Given the description of an element on the screen output the (x, y) to click on. 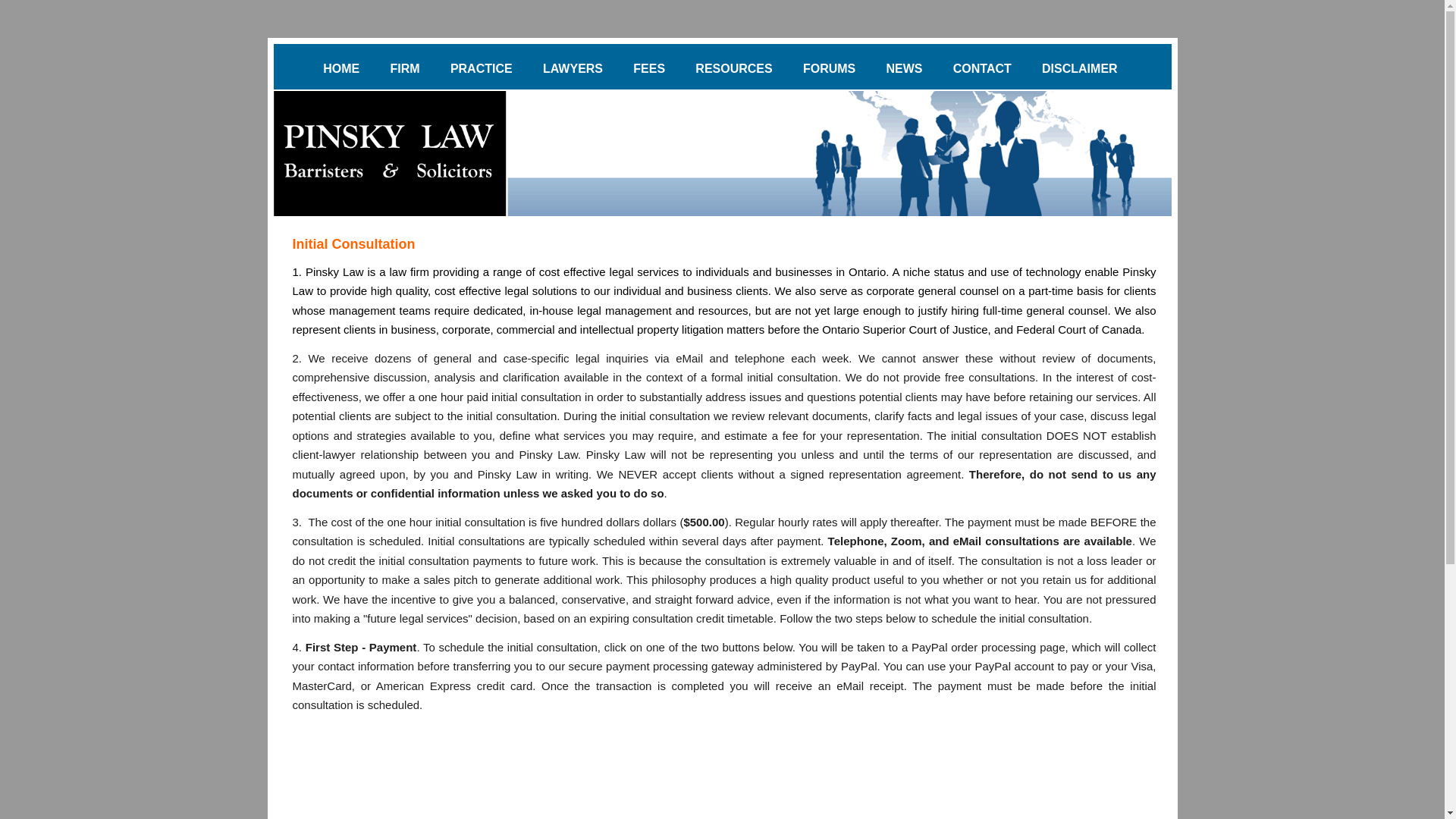
RESOURCES (733, 69)
CONTACT (982, 69)
FORUMS (829, 69)
LAWYERS (572, 69)
FIRM (405, 69)
FEES (649, 69)
NEWS (904, 69)
PayPal (721, 790)
PRACTICE (480, 69)
HOME (341, 69)
DISCLAIMER (1080, 69)
